Given the description of an element on the screen output the (x, y) to click on. 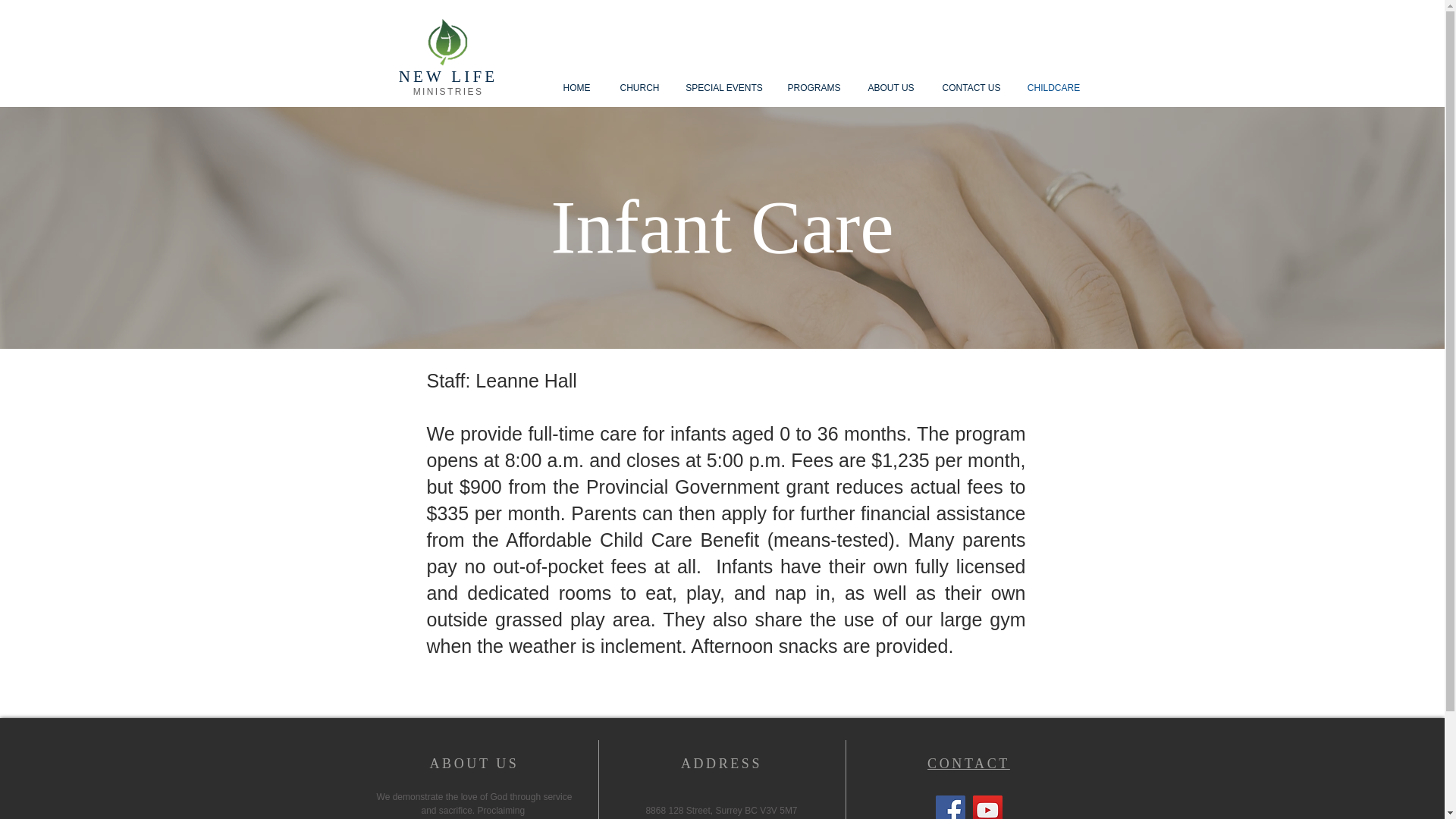
NEW LIFE (447, 76)
CONTACT US (970, 87)
SPECIAL EVENTS (723, 87)
PROGRAMS (813, 87)
HOME (576, 87)
ABOUT US (890, 87)
CHURCH (638, 87)
CONTACT (968, 763)
CHILDCARE (1053, 87)
